Given the description of an element on the screen output the (x, y) to click on. 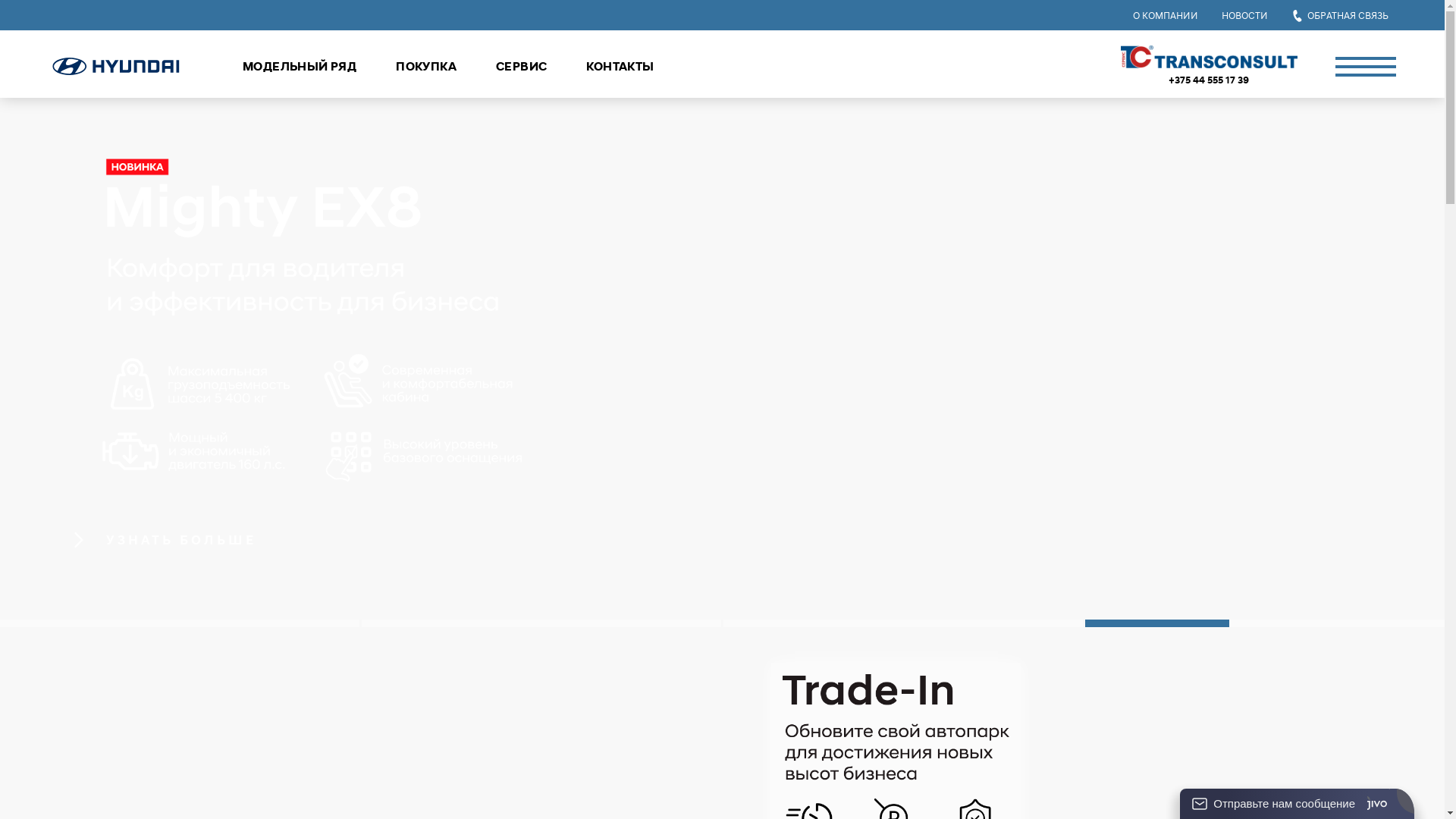
1 Element type: text (179, 623)
+375 44 555 17 39 Element type: text (1208, 79)
2 Element type: text (541, 623)
3 Element type: text (902, 623)
4 Element type: text (1264, 623)
